Given the description of an element on the screen output the (x, y) to click on. 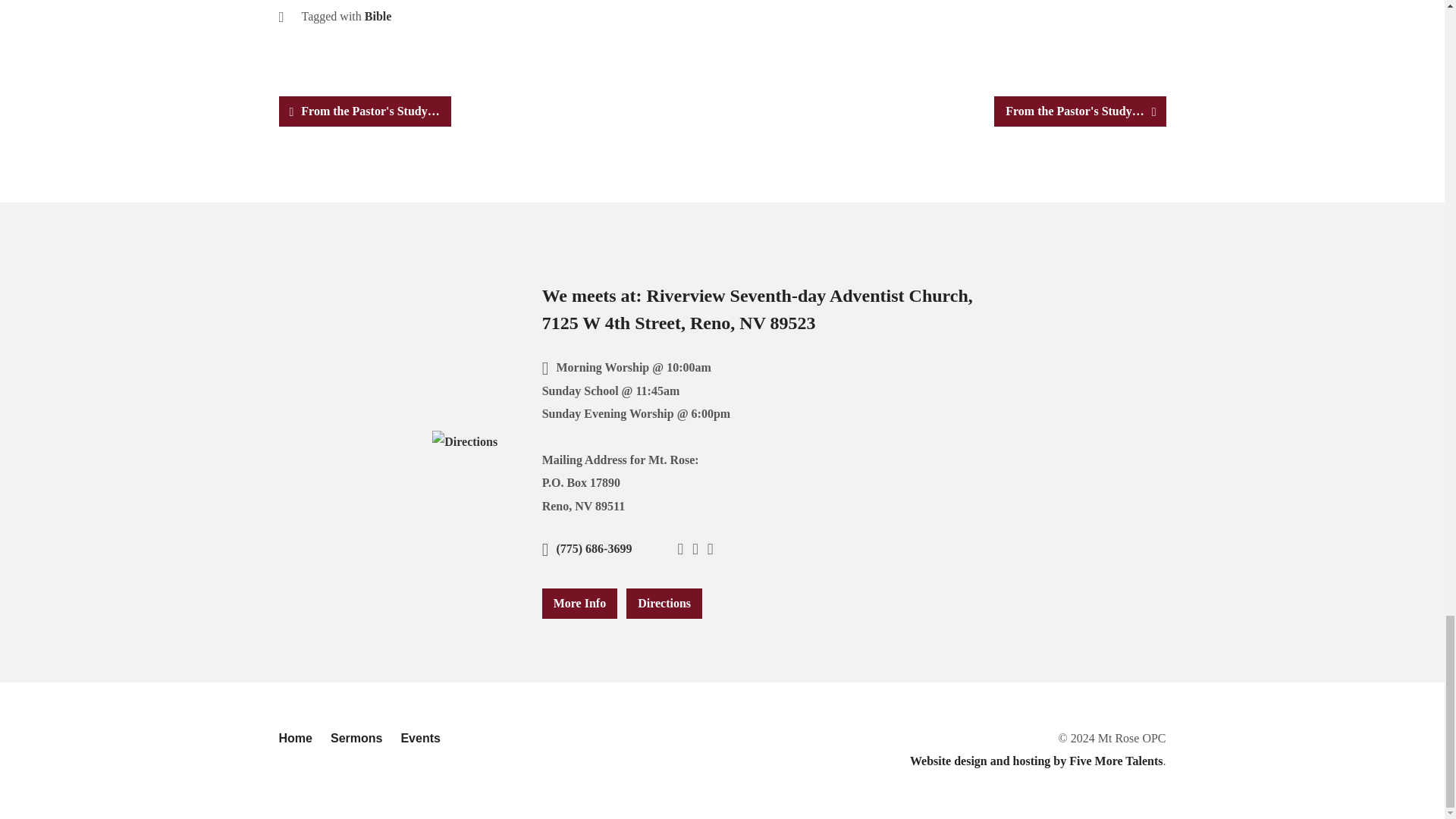
Bible (378, 15)
Directions (464, 440)
